Given the description of an element on the screen output the (x, y) to click on. 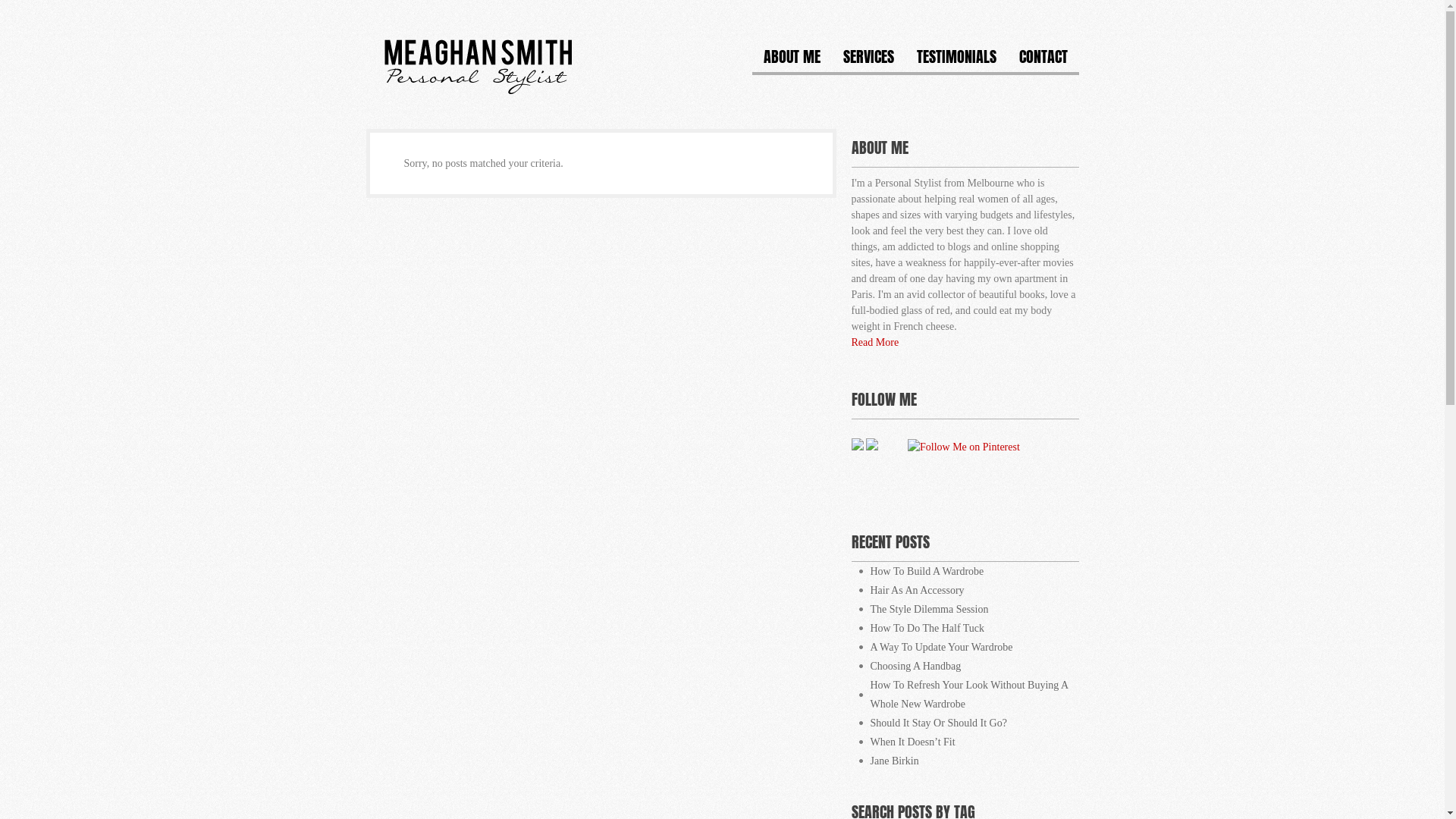
Jane Birkin Element type: text (964, 760)
How To Refresh Your Look Without Buying A Whole New Wardrobe Element type: text (964, 694)
A Way To Update Your Wardrobe Element type: text (964, 646)
Read More Element type: text (874, 342)
Should It Stay Or Should It Go? Element type: text (964, 722)
SERVICES Element type: text (867, 62)
ABOUT ME Element type: text (791, 62)
Hair As An Accessory Element type: text (964, 589)
TESTIMONIALS Element type: text (956, 62)
How To Build A Wardrobe Element type: text (964, 570)
The Style Dilemma Session Element type: text (964, 608)
Choosing A Handbag Element type: text (964, 665)
How To Do The Half Tuck Element type: text (964, 627)
CONTACT Element type: text (1042, 62)
